Given the description of an element on the screen output the (x, y) to click on. 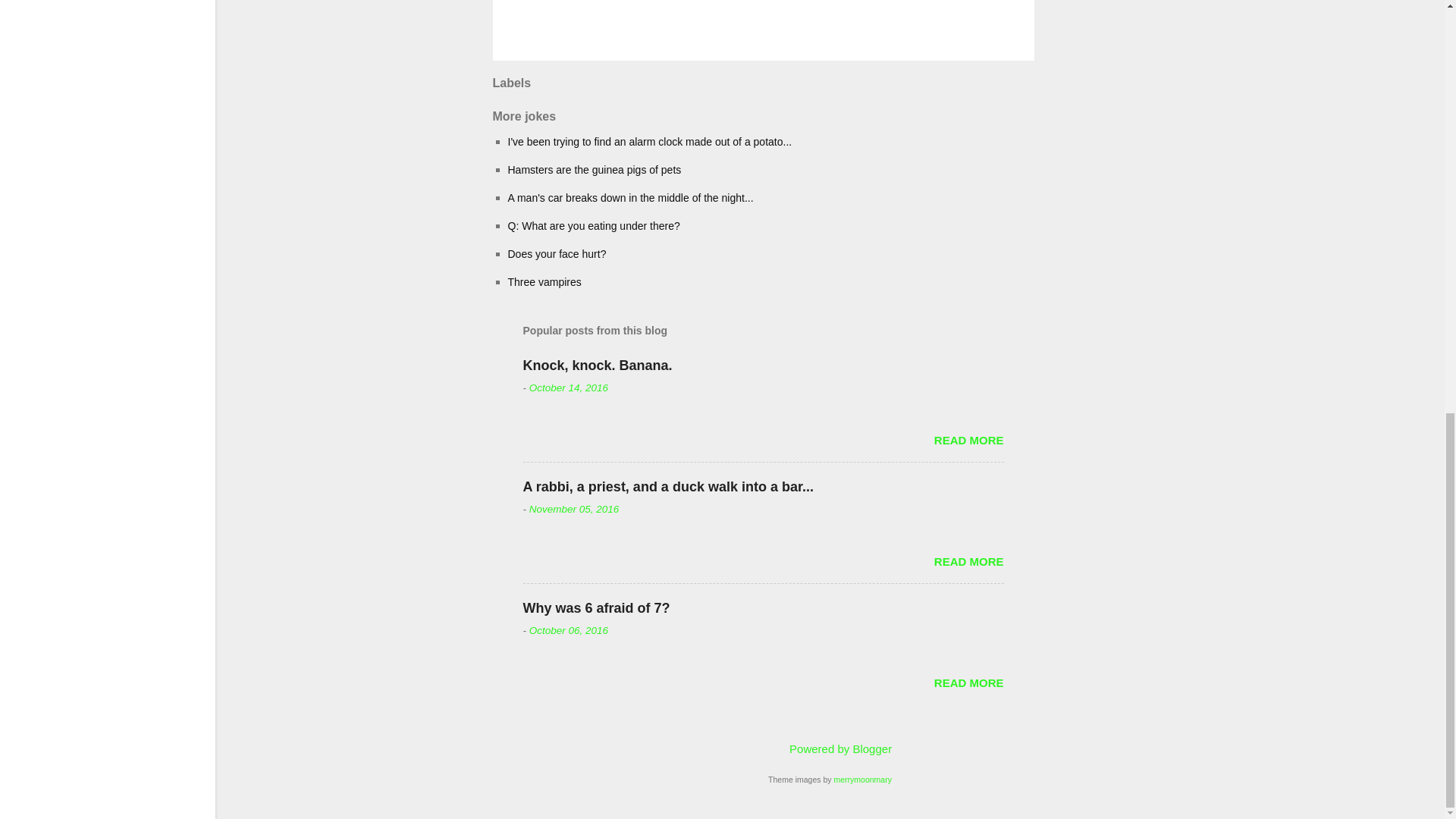
Advertisement (1118, 91)
